Given the description of an element on the screen output the (x, y) to click on. 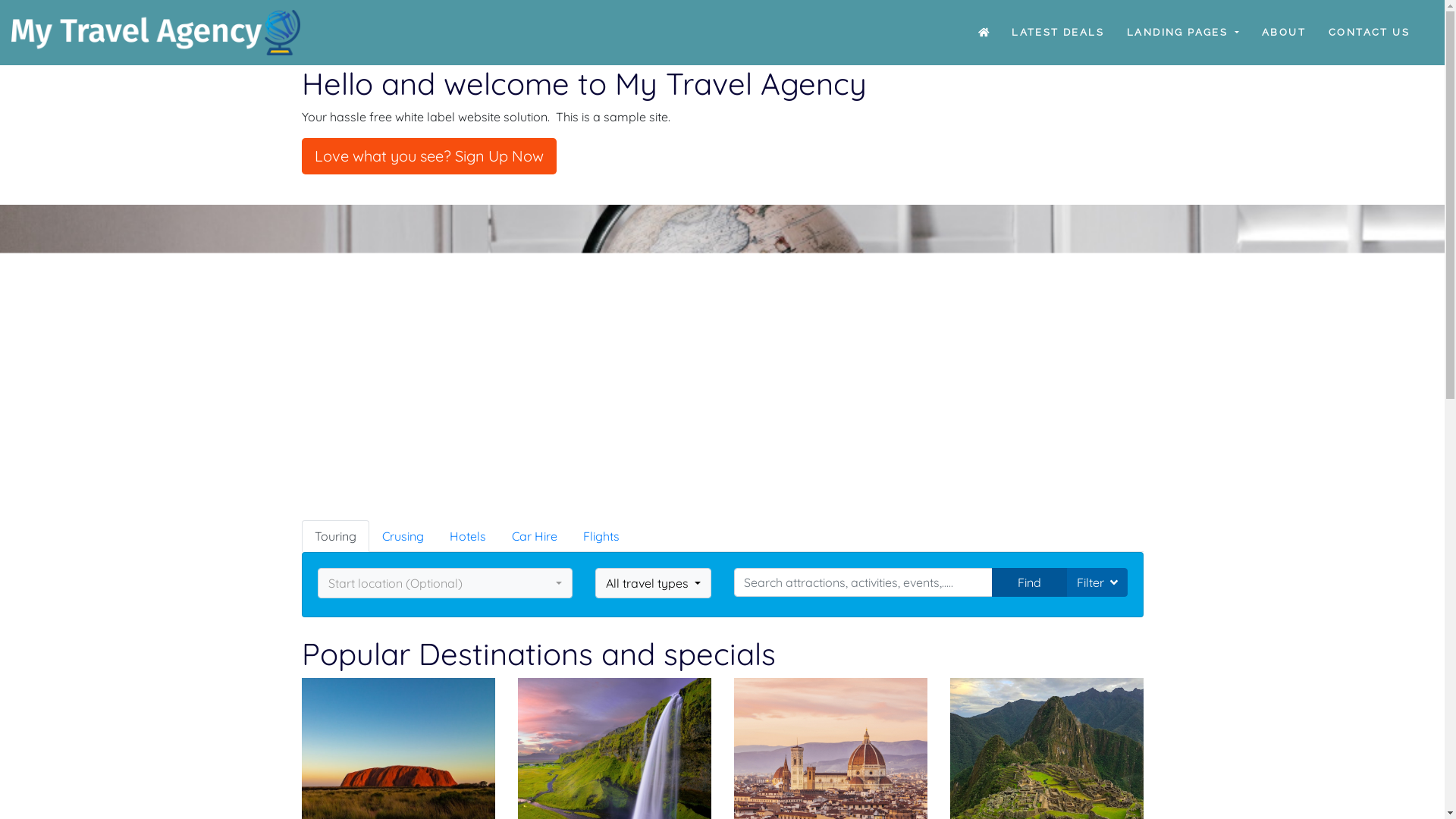
Car Hire Element type: text (534, 536)
Flights Element type: text (601, 536)
Touring Element type: text (335, 536)
Start location (Optional) Element type: text (444, 582)
Love what you see? Sign Up Now Element type: text (428, 156)
LATEST DEALS Element type: text (1057, 32)
All travel types Element type: text (653, 582)
Hotels Element type: text (467, 536)
ABOUT Element type: text (1283, 32)
LANDING PAGES Element type: text (1182, 32)
CONTACT US Element type: text (1369, 32)
Find Element type: text (1029, 581)
Filter Element type: text (1096, 581)
Crusing Element type: text (402, 536)
